Given the description of an element on the screen output the (x, y) to click on. 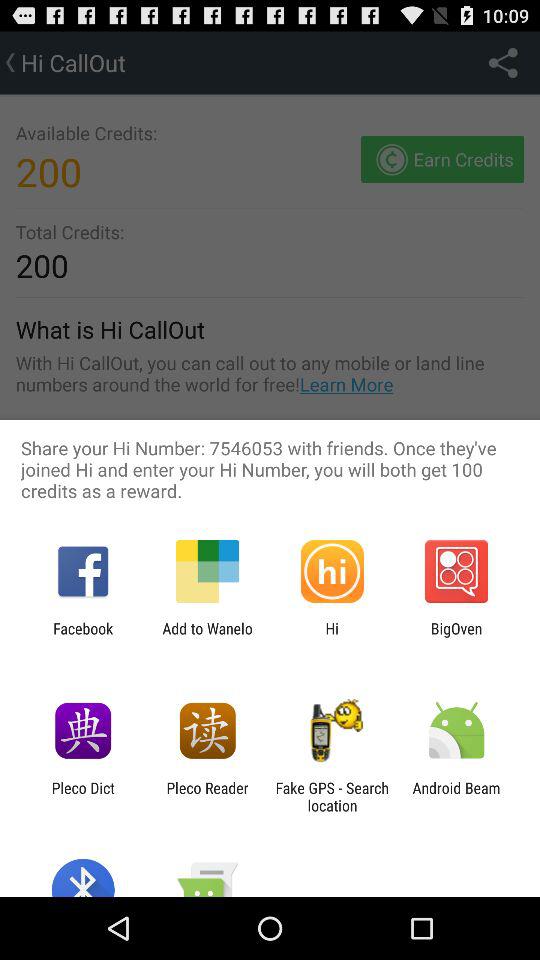
turn off the app next to facebook item (207, 637)
